Given the description of an element on the screen output the (x, y) to click on. 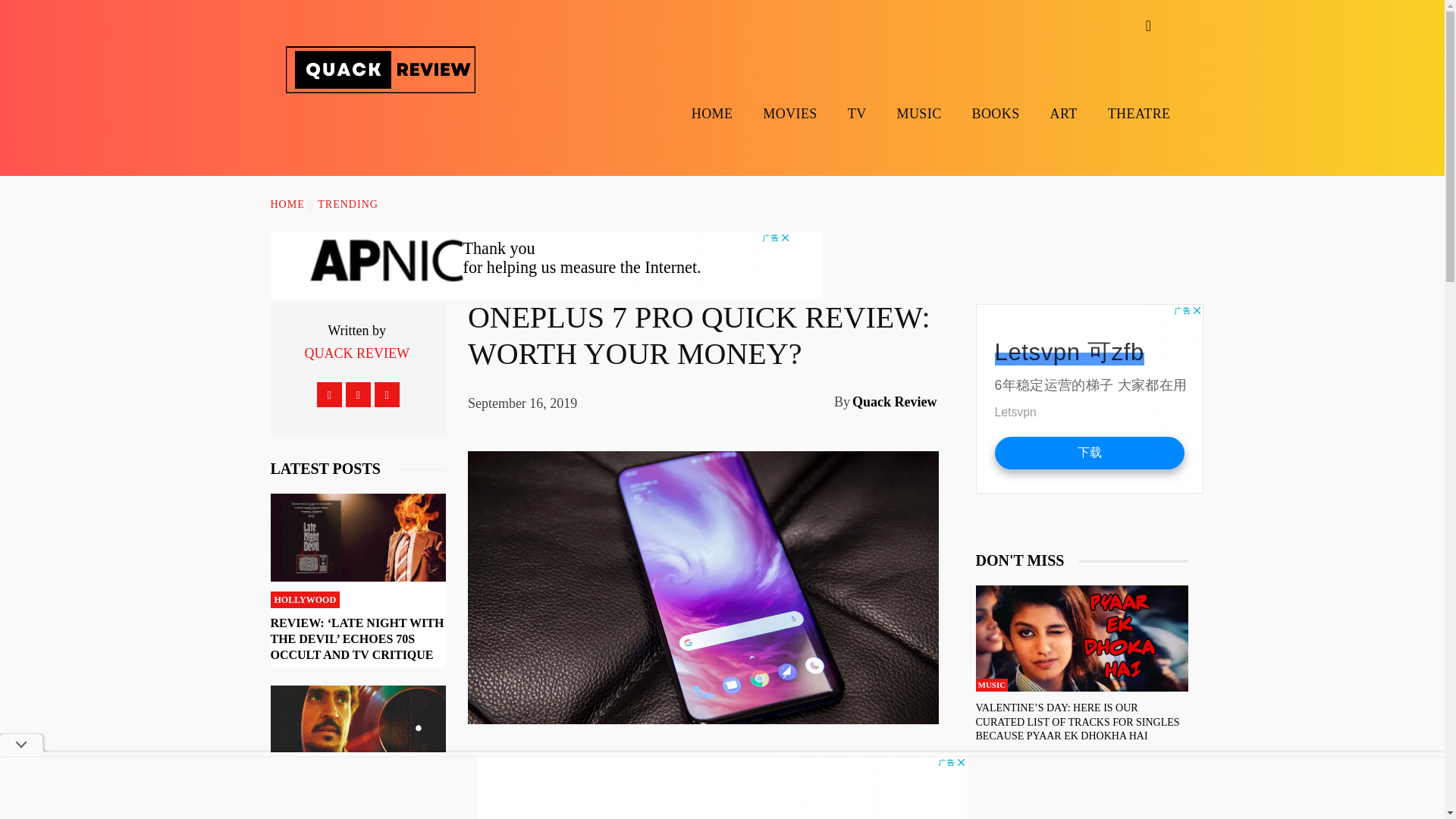
Twitter (386, 394)
HOME (286, 204)
BOLLYWOOD (303, 791)
HOME (711, 113)
THEATRE (1138, 113)
TRENDING (347, 204)
QUACK REVIEW (356, 353)
View all posts in Trending (347, 204)
Advertisement (545, 264)
MUSIC (918, 113)
BOOKS (995, 113)
Facebook (329, 394)
Instagram (358, 394)
MOVIES (789, 113)
HOLLYWOOD (304, 599)
